Given the description of an element on the screen output the (x, y) to click on. 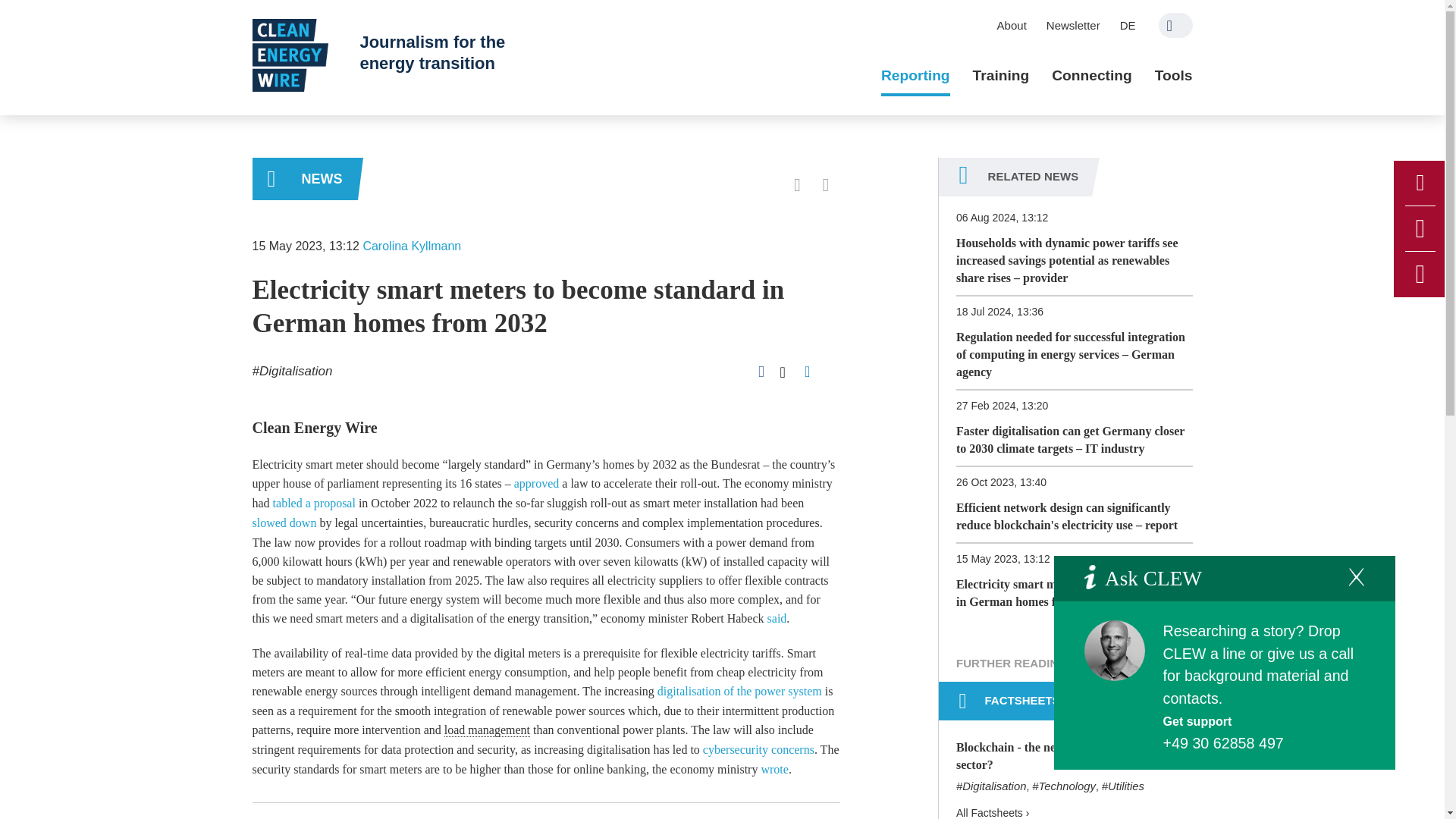
Tools (1173, 75)
Sven Egenter (1114, 649)
Search (1175, 25)
Connecting (1091, 75)
Training (1000, 75)
NEWS (303, 178)
approved (536, 482)
Newsletter (1072, 25)
About (1011, 25)
Carolina Kyllmann (411, 245)
